Given the description of an element on the screen output the (x, y) to click on. 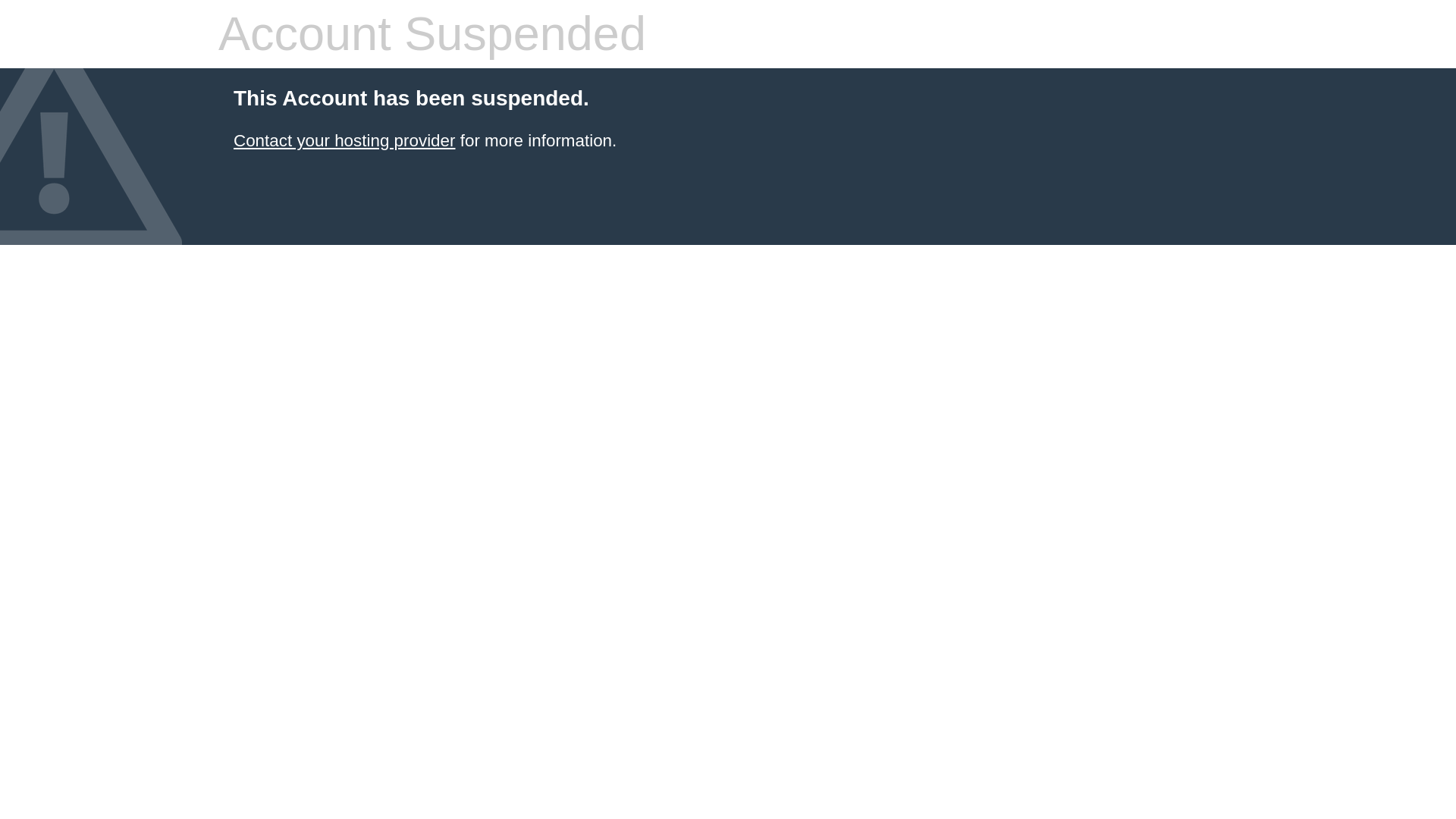
Reform Hosting (343, 140)
Contact your hosting provider (343, 140)
